Given the description of an element on the screen output the (x, y) to click on. 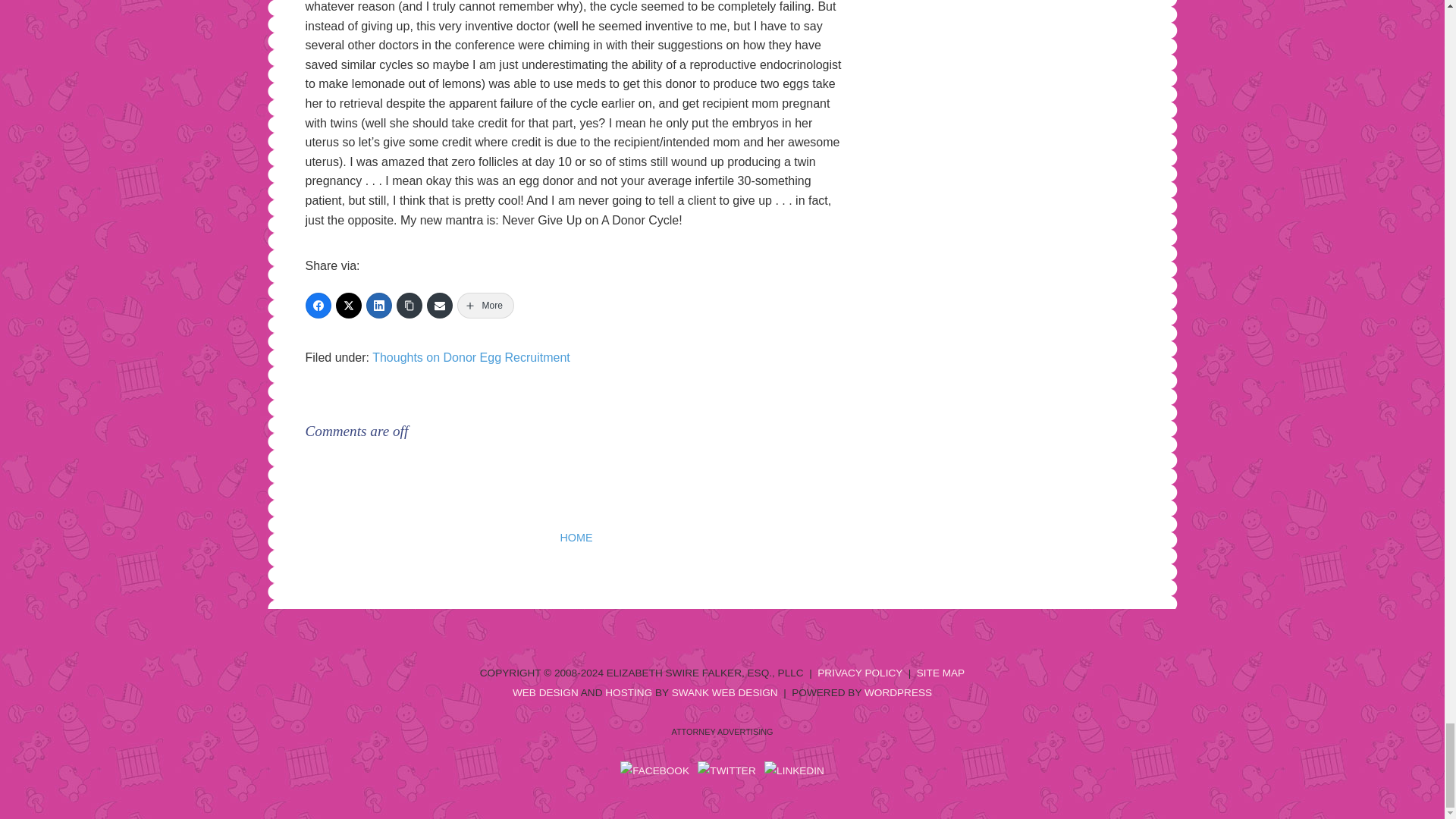
Follow on Twitter (726, 771)
Follow on Facebook (654, 771)
